Given the description of an element on the screen output the (x, y) to click on. 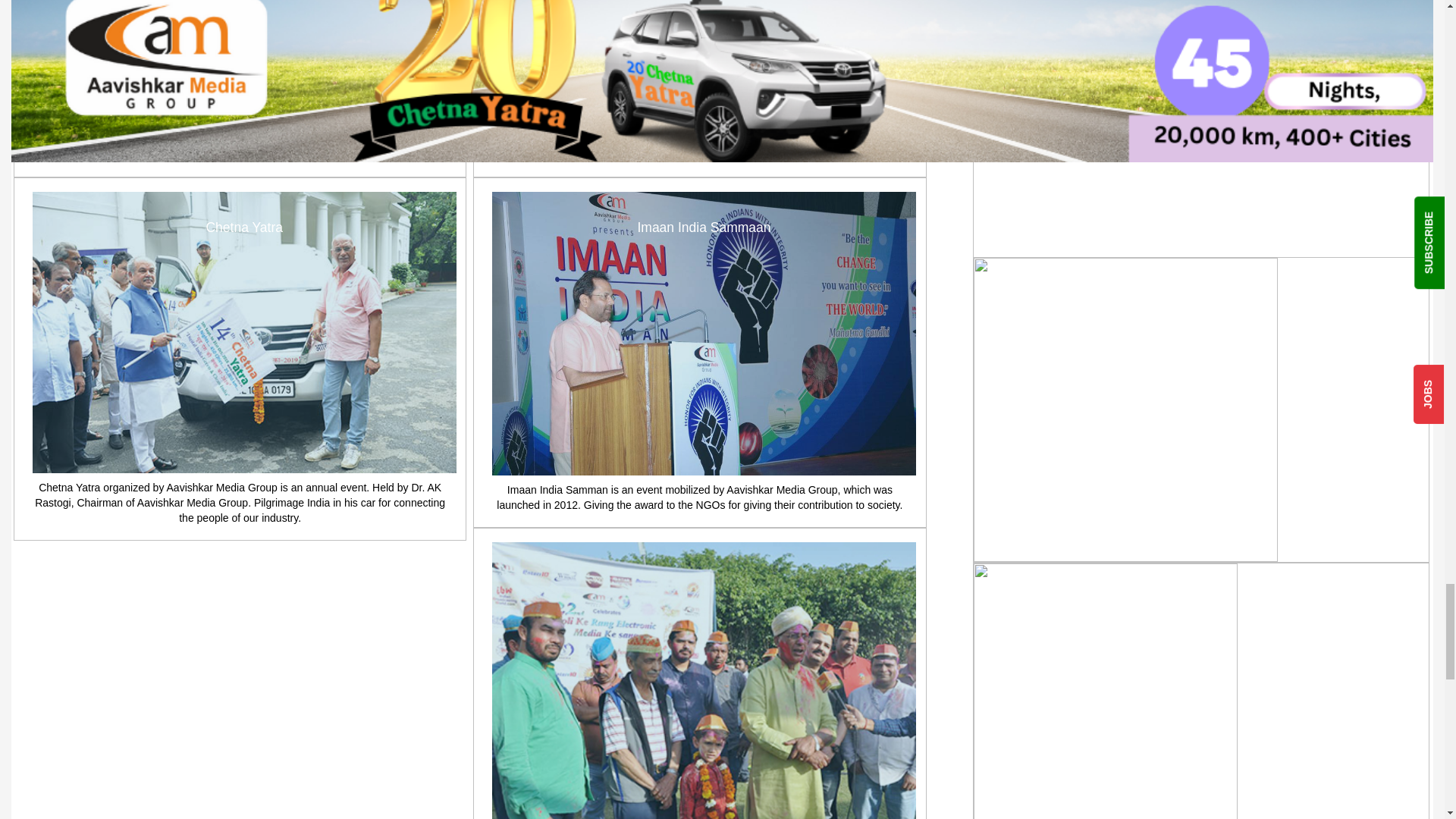
SatCab Symposium (244, 54)
BCS Ratna Awards (703, 54)
Chetna Yatra (244, 332)
Imaan India Sammaan (703, 333)
